Given the description of an element on the screen output the (x, y) to click on. 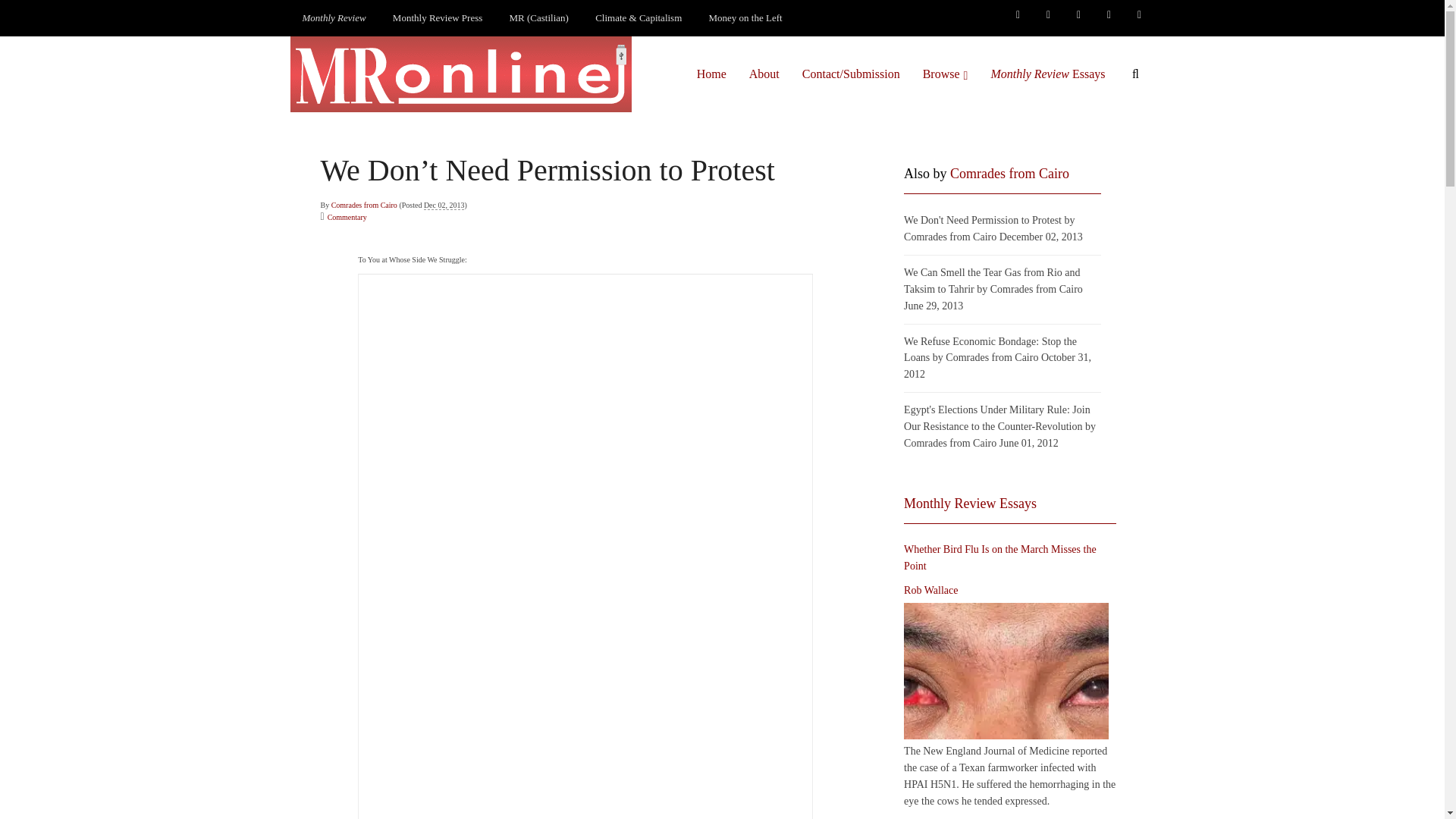
Money on the Left (745, 18)
Posts by Rob Wallace (931, 590)
Monthly Review (333, 18)
Whether Bird Flu Is on the March Misses the Point (1006, 670)
Browse (945, 74)
Monthly Review Press (437, 18)
Monthly Review Magazine (333, 18)
